Given the description of an element on the screen output the (x, y) to click on. 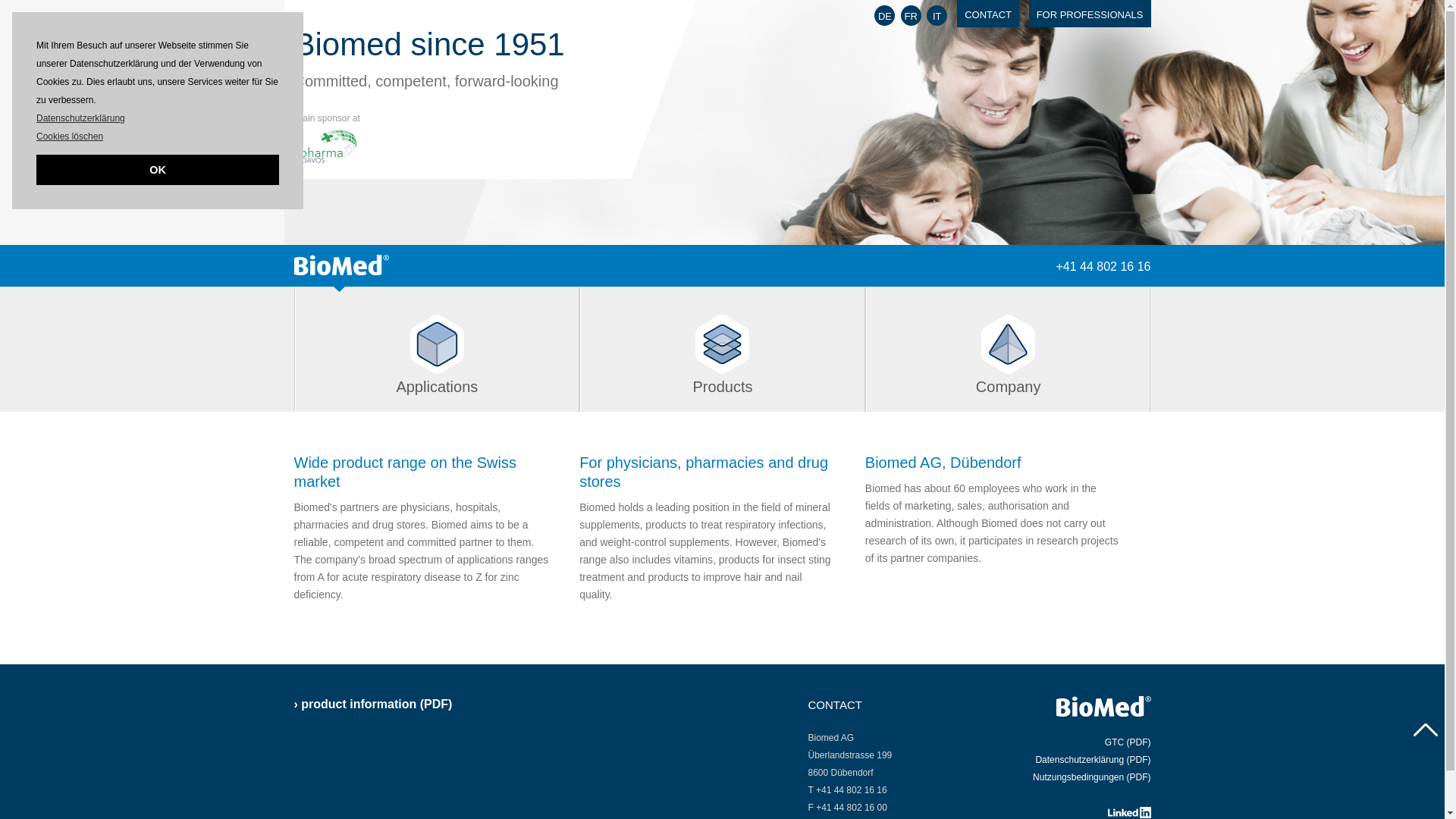
IT Element type: text (936, 15)
go top Element type: text (1425, 731)
Applications Element type: text (436, 348)
OK Element type: text (157, 169)
Products Element type: text (722, 348)
Nutzungsbedingungen (PDF) Element type: text (1091, 776)
Company Element type: text (1008, 348)
GTC (PDF) Element type: text (1127, 742)
FR Element type: text (910, 15)
Main sponsor at Element type: text (327, 131)
DE Element type: text (884, 15)
